Given the description of an element on the screen output the (x, y) to click on. 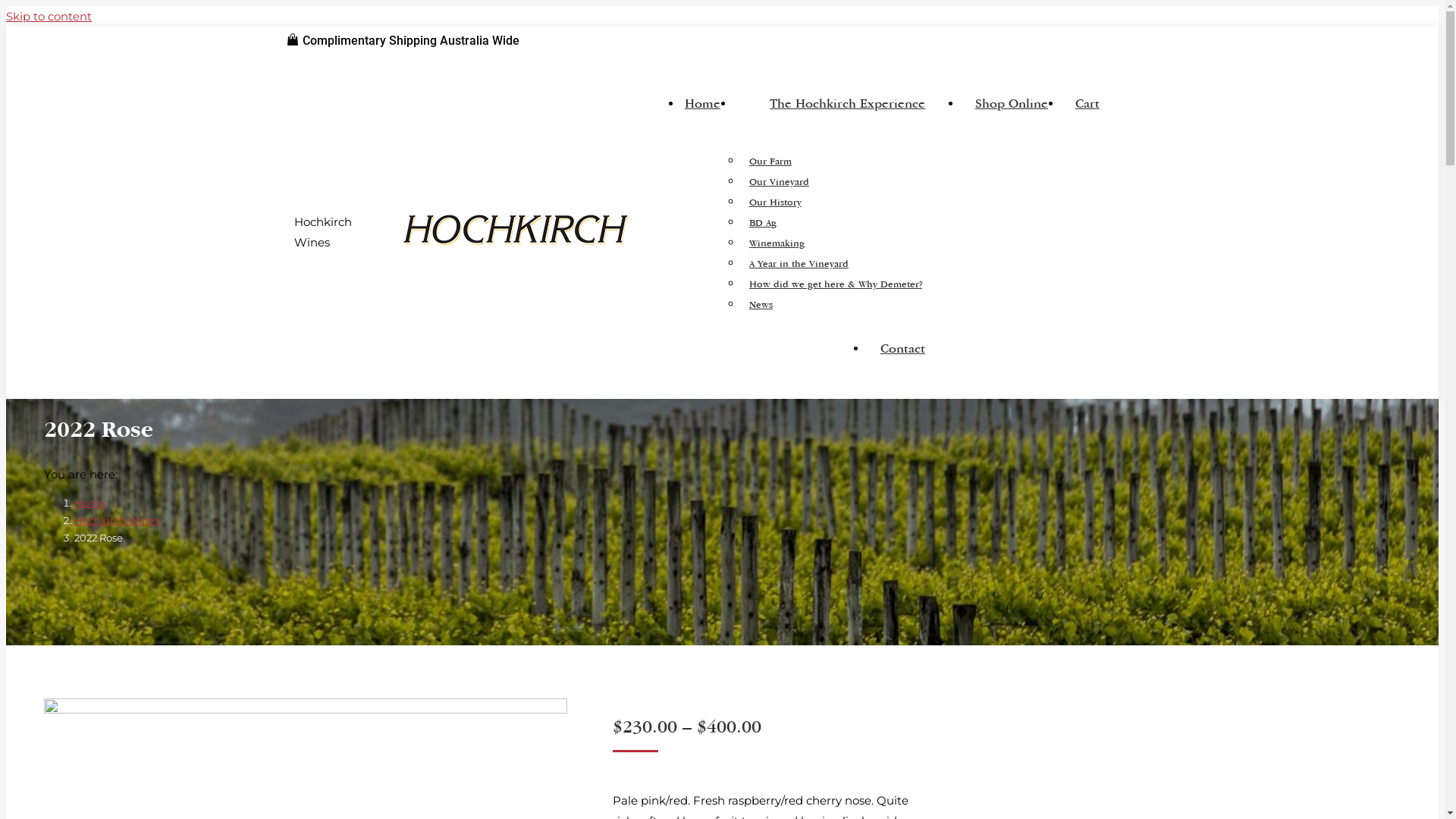
Hochkirch Wines Element type: text (116, 520)
Our Farm Element type: text (770, 160)
Winemaking Element type: text (776, 242)
How did we get here & Why Demeter? Element type: text (835, 283)
Cart Element type: text (1087, 109)
The Hochkirch Experience Element type: text (847, 109)
Shop Online Element type: text (1011, 109)
Home Element type: text (702, 109)
Home Element type: text (89, 502)
News Element type: text (760, 303)
Our History Element type: text (775, 201)
A Year in the Vineyard Element type: text (798, 262)
Our Vineyard Element type: text (778, 180)
BD Ag Element type: text (762, 221)
Skip to content Element type: text (722, 16)
Contact Element type: text (902, 354)
